Given the description of an element on the screen output the (x, y) to click on. 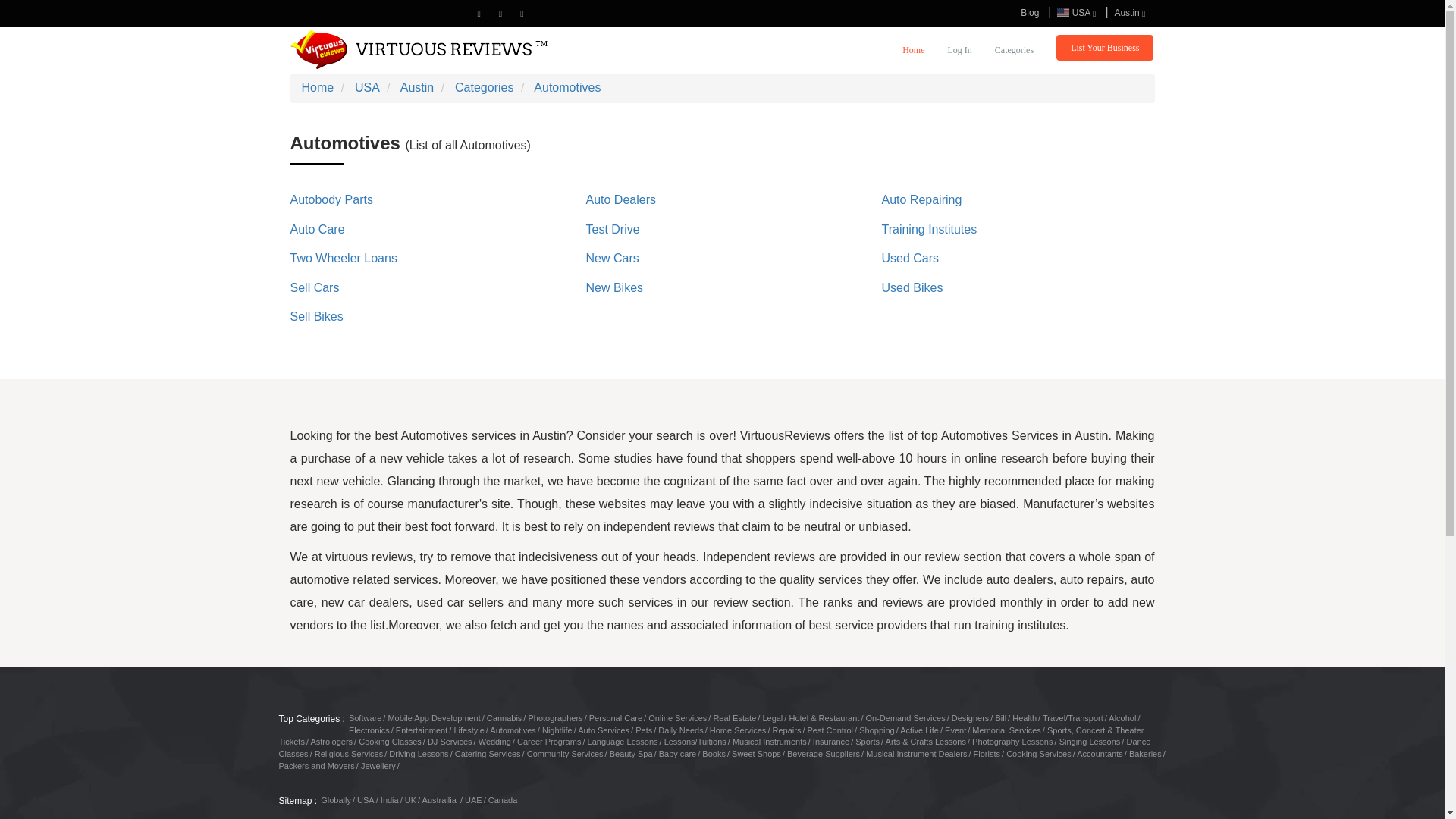
Blog (1029, 12)
Virtuous Reviews (418, 49)
The Official Virtuous Reviews Blog (1029, 12)
select city (1129, 12)
USA (1076, 12)
Austin (1129, 12)
